Given the description of an element on the screen output the (x, y) to click on. 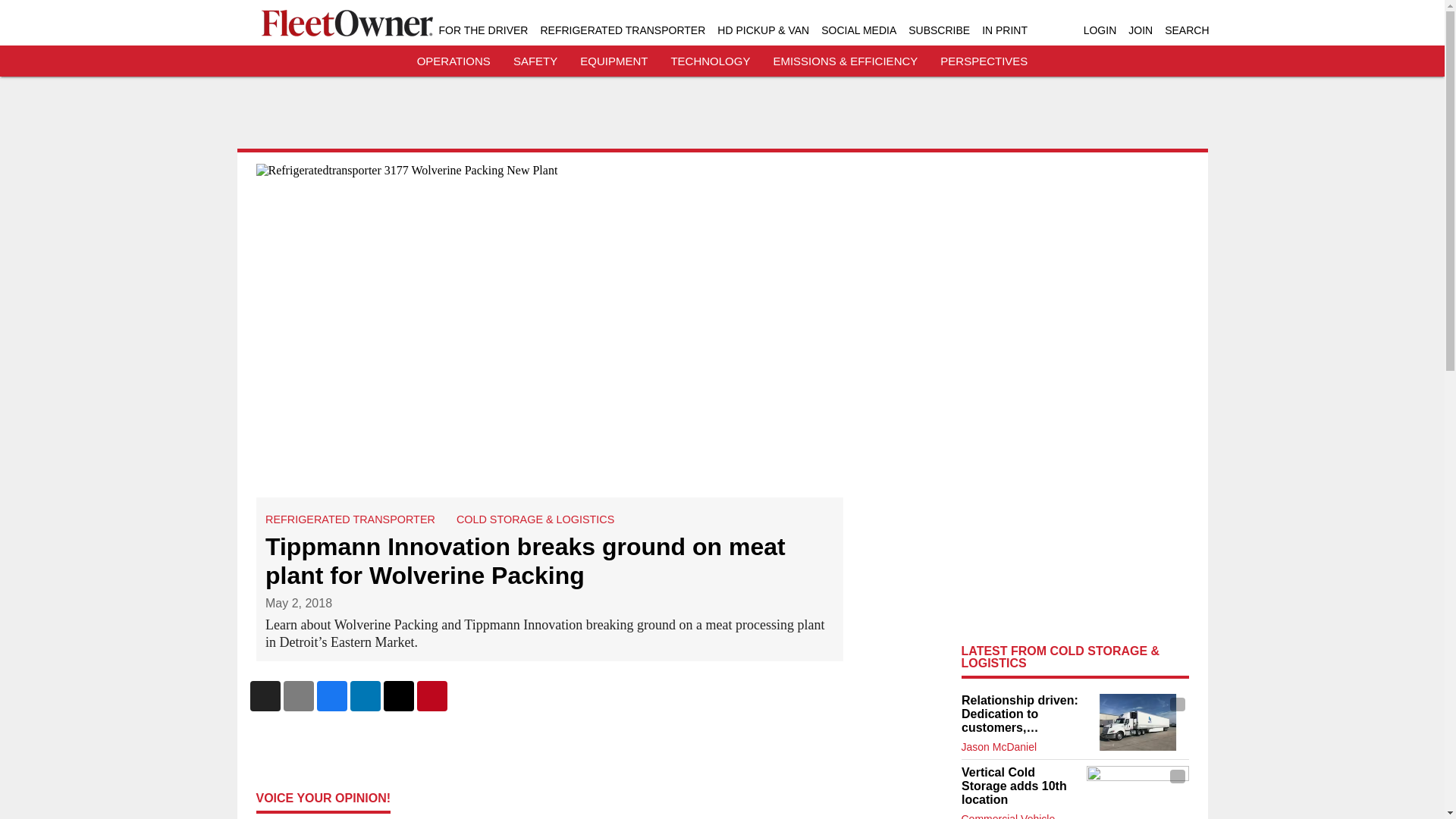
SUBSCRIBE (938, 30)
IN PRINT (1004, 30)
PERSPECTIVES (983, 60)
LOGIN (1099, 30)
SOCIAL MEDIA (858, 30)
SEARCH (1186, 30)
REFRIGERATED TRANSPORTER (622, 30)
JOIN (1140, 30)
SAFETY (535, 60)
TECHNOLOGY (709, 60)
FOR THE DRIVER (482, 30)
EQUIPMENT (613, 60)
OPERATIONS (453, 60)
